Given the description of an element on the screen output the (x, y) to click on. 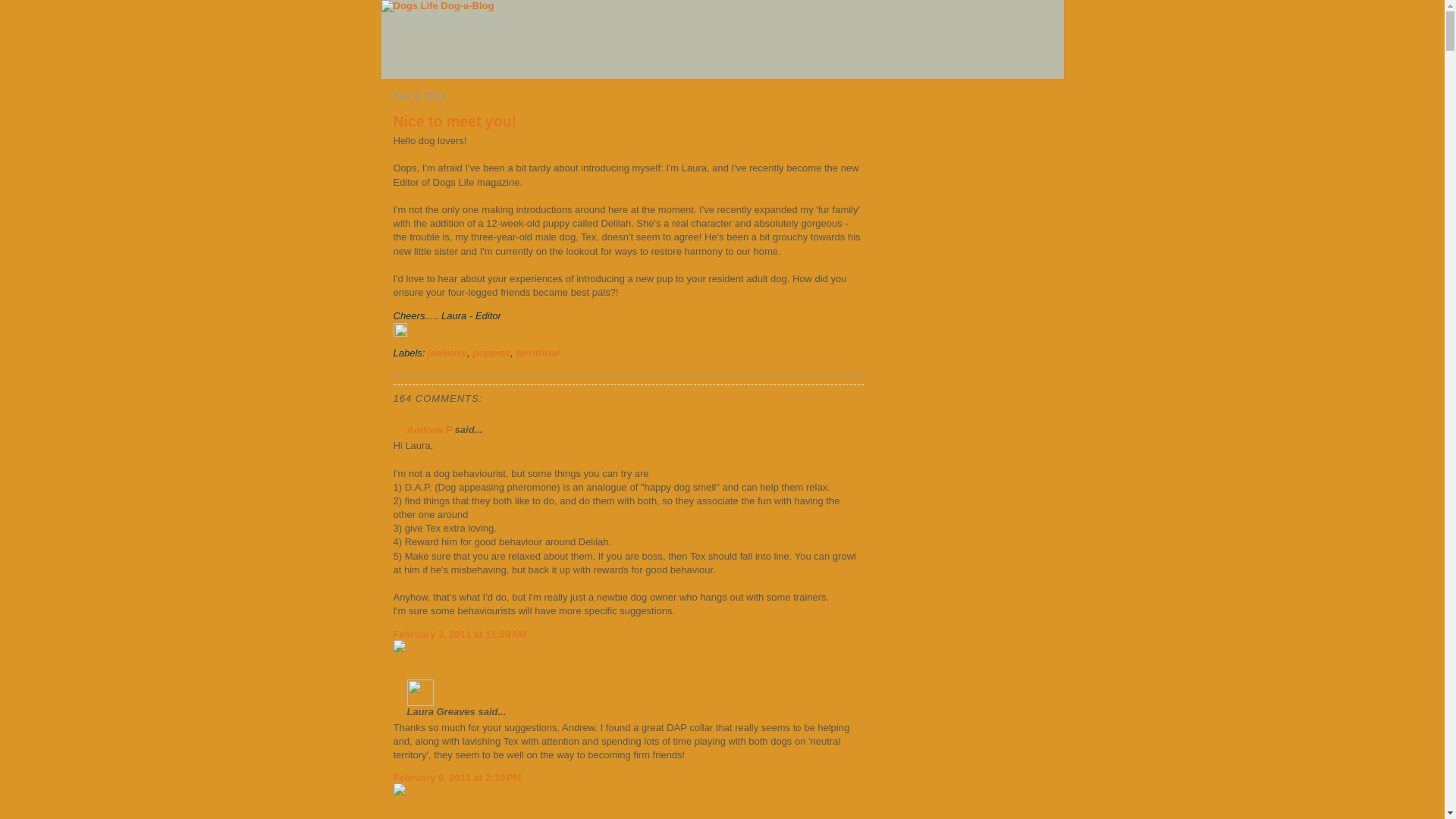
territorial Element type: text (536, 352)
Nice to meet you! Element type: text (454, 120)
Laura Greaves Element type: hover (419, 692)
  Element type: text (504, 315)
Edit Post Element type: hover (627, 336)
Delete Comment Element type: hover (627, 794)
jealousy Element type: text (447, 352)
Delete Comment Element type: hover (627, 651)
Andrew P Element type: text (428, 429)
puppies Element type: text (491, 352)
Email Post Element type: hover (504, 315)
